Given the description of an element on the screen output the (x, y) to click on. 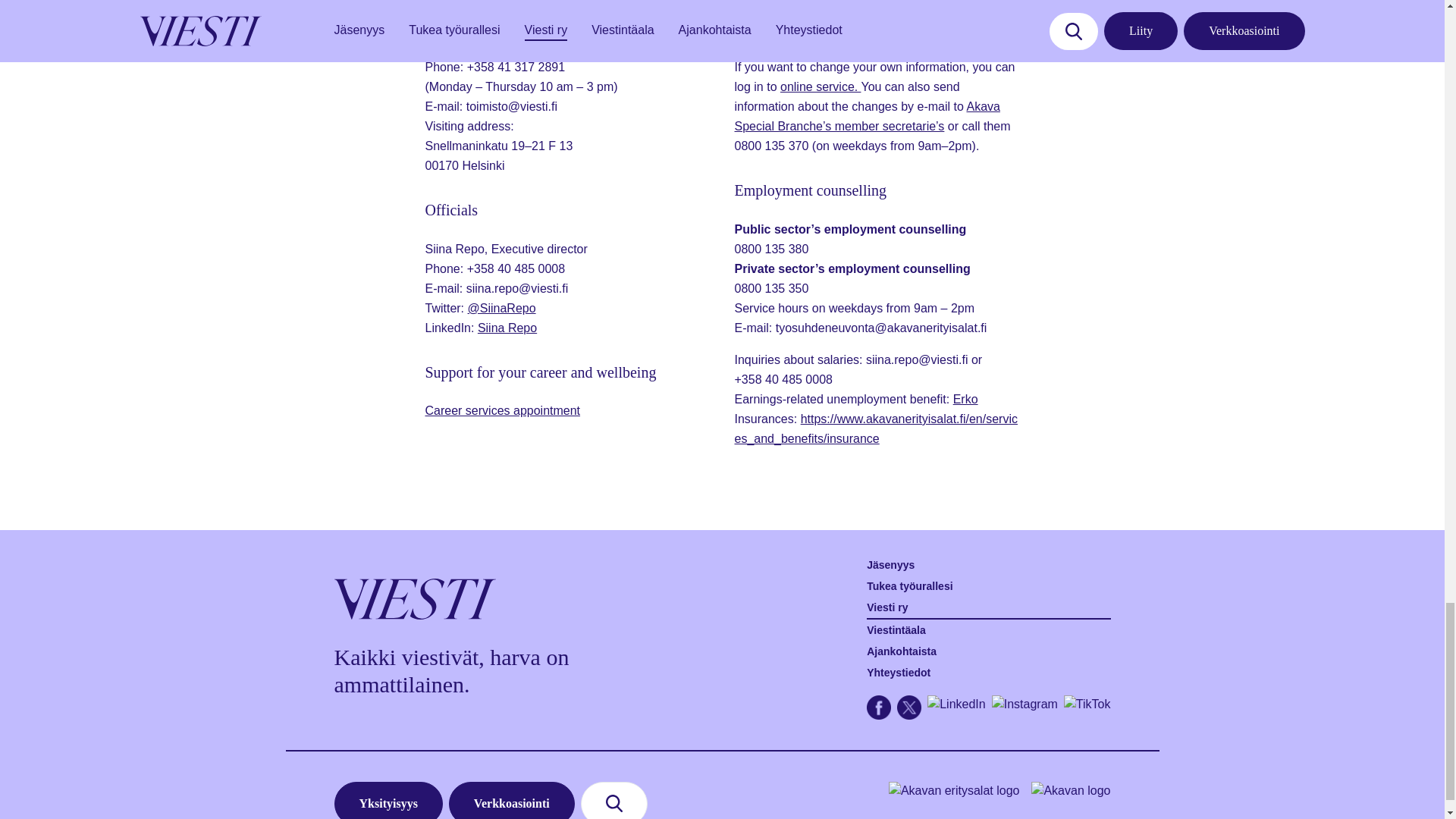
Siina Repo (507, 327)
Career services appointment (502, 410)
online service.  (820, 86)
